Given the description of an element on the screen output the (x, y) to click on. 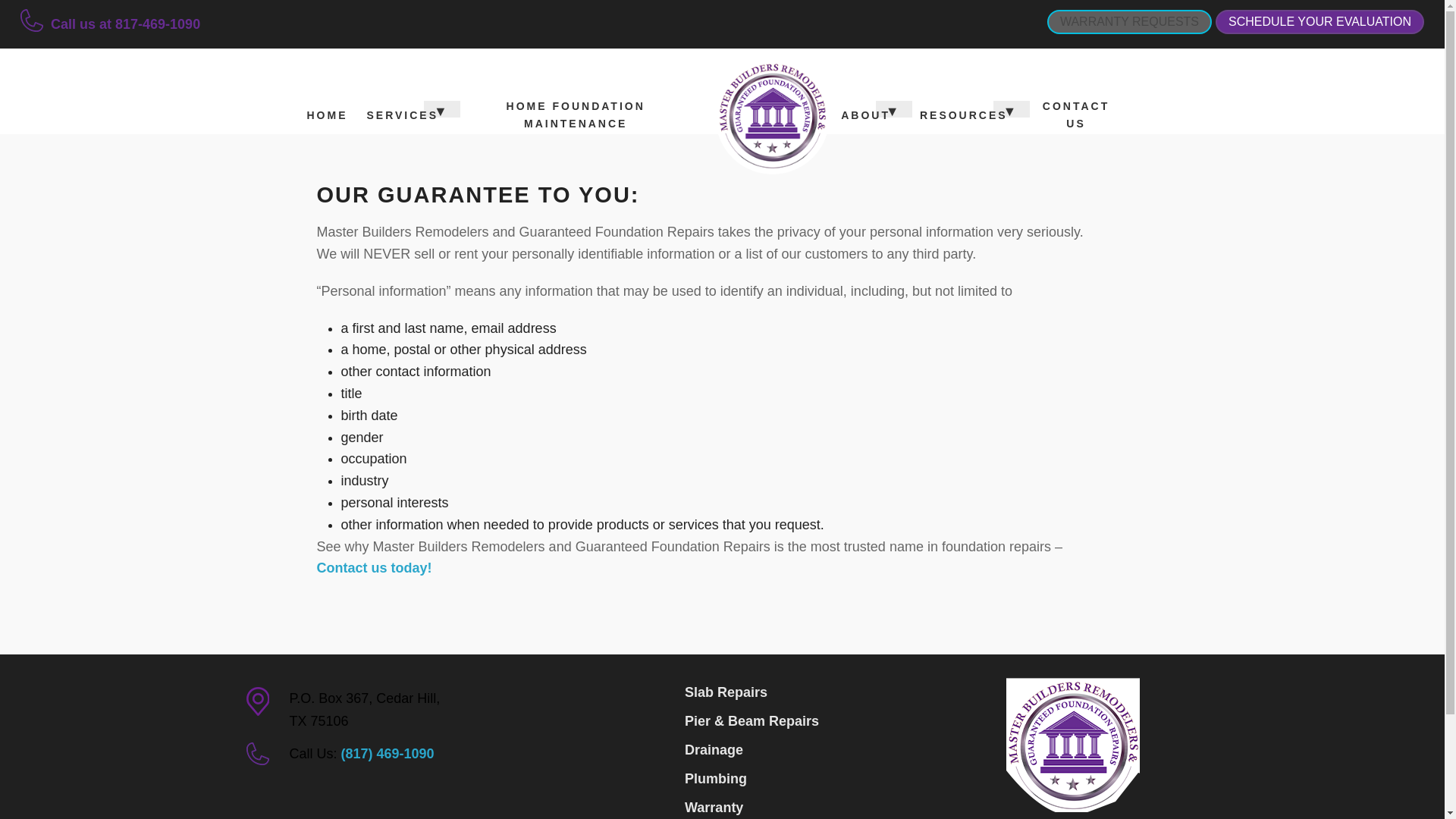
Drainage (804, 749)
RESOURCES (963, 115)
Contact Us (374, 567)
SCHEDULE YOUR EVALUATION (1319, 21)
Call us at 817-469-1090 (125, 24)
Warranty (804, 806)
SERVICES (402, 115)
Slab Repairs (804, 692)
Contact us today! (374, 567)
ABOUT (865, 115)
